Given the description of an element on the screen output the (x, y) to click on. 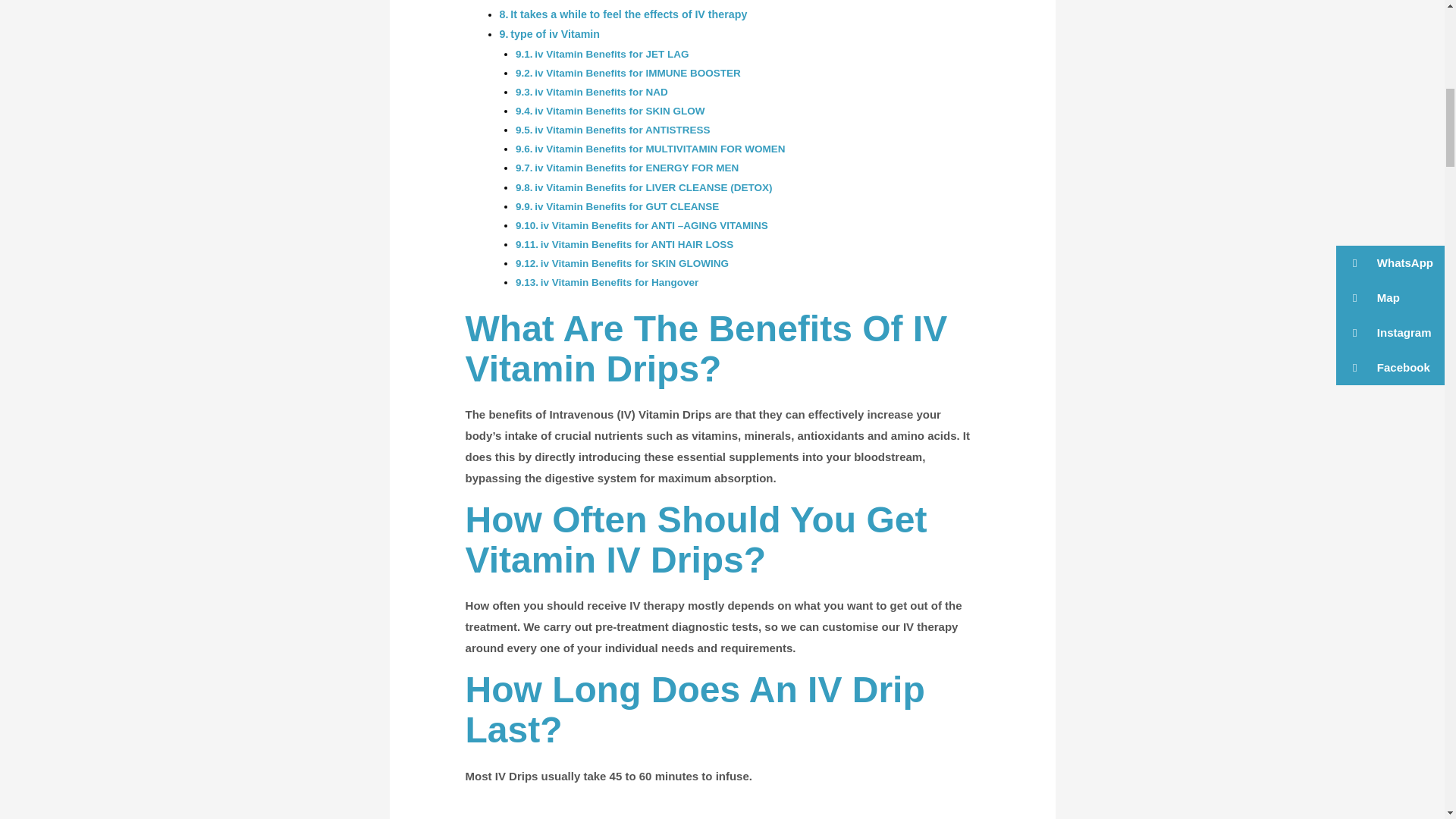
iv Vitamin Benefits for IMMUNE BOOSTER (637, 72)
iv Vitamin Benefits for NAD (601, 91)
It takes a while to feel the effects of IV therapy (628, 14)
iv Vitamin Benefits for ANTISTRESS (622, 129)
iv Vitamin Benefits for ENERGY FOR MEN (636, 167)
type of iv Vitamin (555, 33)
iv Vitamin Benefits for SKIN GLOW (619, 111)
iv Vitamin Benefits for MULTIVITAMIN FOR WOMEN (659, 148)
iv Vitamin Benefits for JET LAG (611, 53)
